Given the description of an element on the screen output the (x, y) to click on. 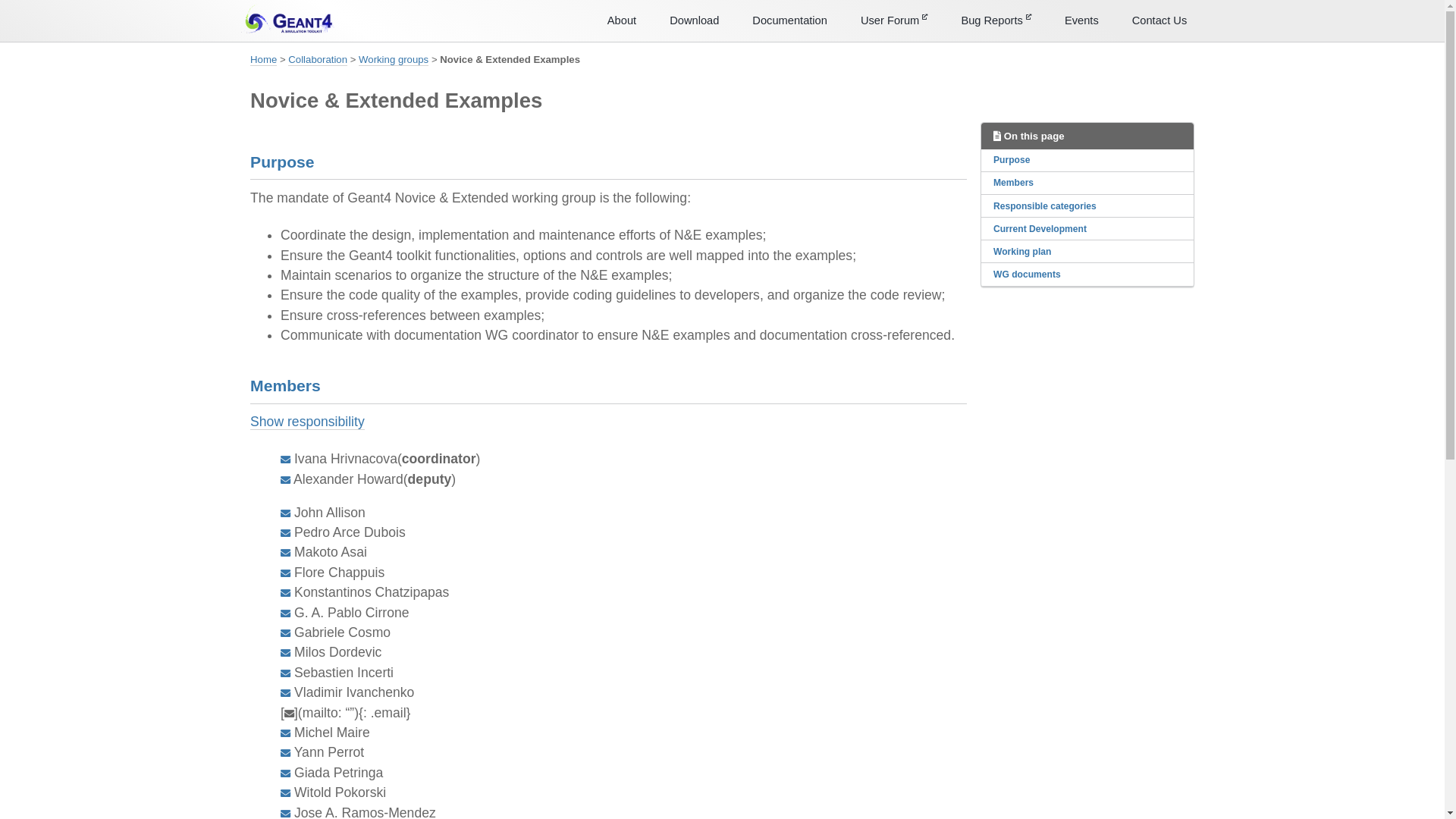
petringa@lns.infn.it Element type: hover (285, 772)
Working plan Element type: text (1087, 251)
Home Element type: text (263, 59)
User Forum Element type: text (893, 20)
Pedro.Arce@cern.ch Element type: hover (285, 531)
Skip to primary navigation Element type: text (0, 0)
Vladimir.Ivantchenko@cern.ch Element type: hover (285, 691)
incerti@cenbg.in2p3.fr Element type: hover (285, 672)
John.Allison@manchester.ac.uk Element type: hover (285, 512)
Download Element type: text (693, 20)
Working groups Element type: text (393, 59)
witold.pokorski@cern.ch Element type: hover (285, 792)
Show responsibility Element type: text (307, 421)
cirrone@lns.infn.it Element type: hover (285, 612)
Gabriele.Cosmo@cern.ch Element type: hover (285, 632)
Bug Reports Element type: text (995, 20)
Contact Us Element type: text (1159, 20)
Alexander.Howard@cern.ch Element type: hover (285, 478)
Events Element type: text (1081, 20)
Current Development Element type: text (1087, 228)
Responsible categories Element type: text (1087, 205)
maire@lapp.in2p3.fr Element type: hover (285, 732)
chatzipa@in2p3.fr Element type: hover (285, 591)
asai@jlab.org Element type: hover (285, 551)
milos.djordjevic@cern.ch Element type: hover (285, 651)
WG documents Element type: text (1087, 274)
yann.perrot@irsn.fr Element type: hover (285, 751)
Collaboration Element type: text (317, 59)
Documentation Element type: text (789, 20)
flore.chappuis@chuv.ch Element type: hover (285, 572)
Members Element type: text (1087, 183)
ivana.hrivnacova@ijclab.in2p3.fr Element type: hover (285, 458)
Purpose Element type: text (1087, 160)
About Element type: text (621, 20)
